Given the description of an element on the screen output the (x, y) to click on. 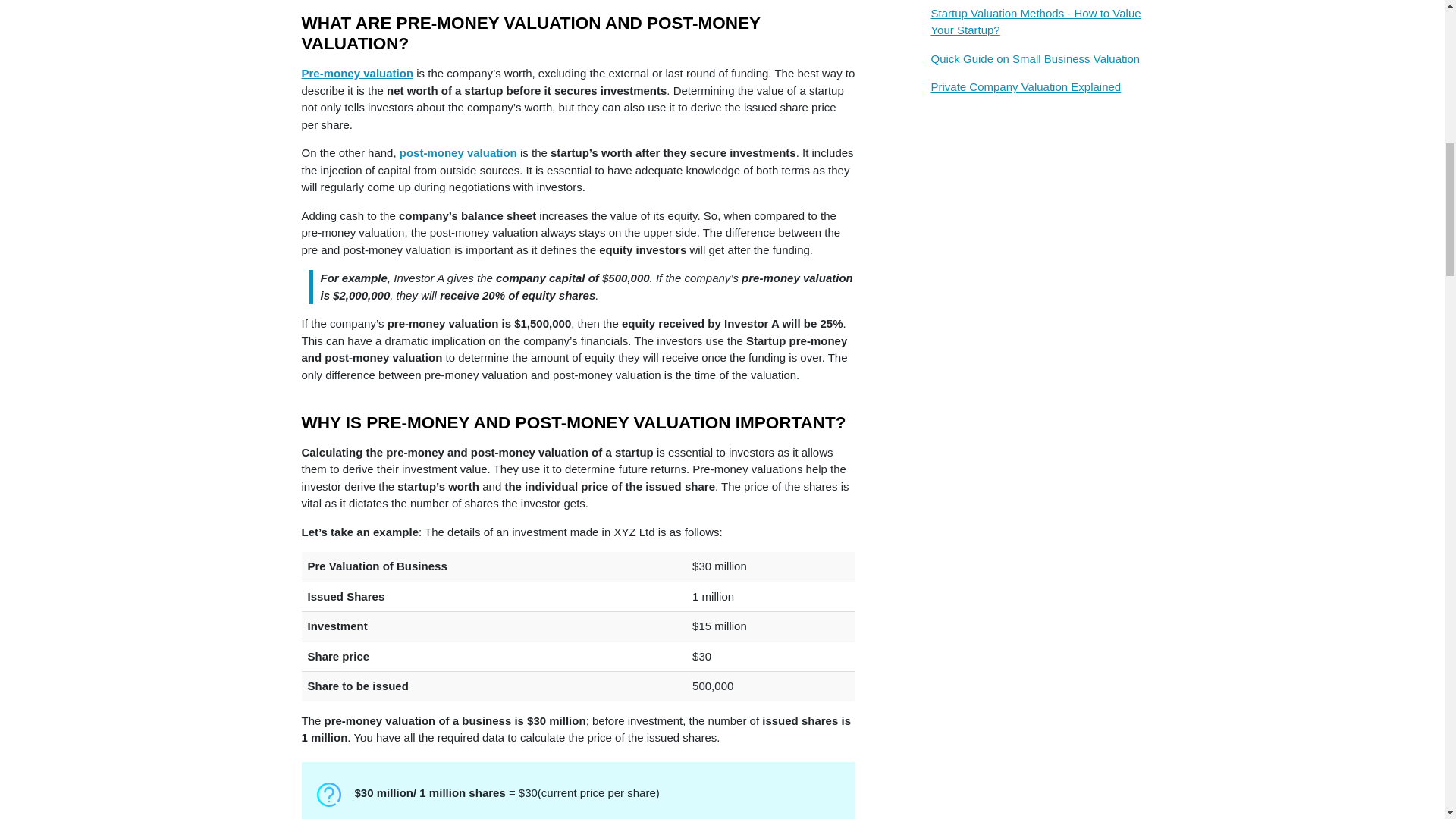
Pre-money valuation (357, 72)
Business Valuation: The Asset-Based Approach (1036, 2)
Quick Guide on Small Business Valuation (1036, 64)
Startup Valuation Methods - How to Value Your Startup? (1036, 27)
post-money valuation (457, 152)
